Given the description of an element on the screen output the (x, y) to click on. 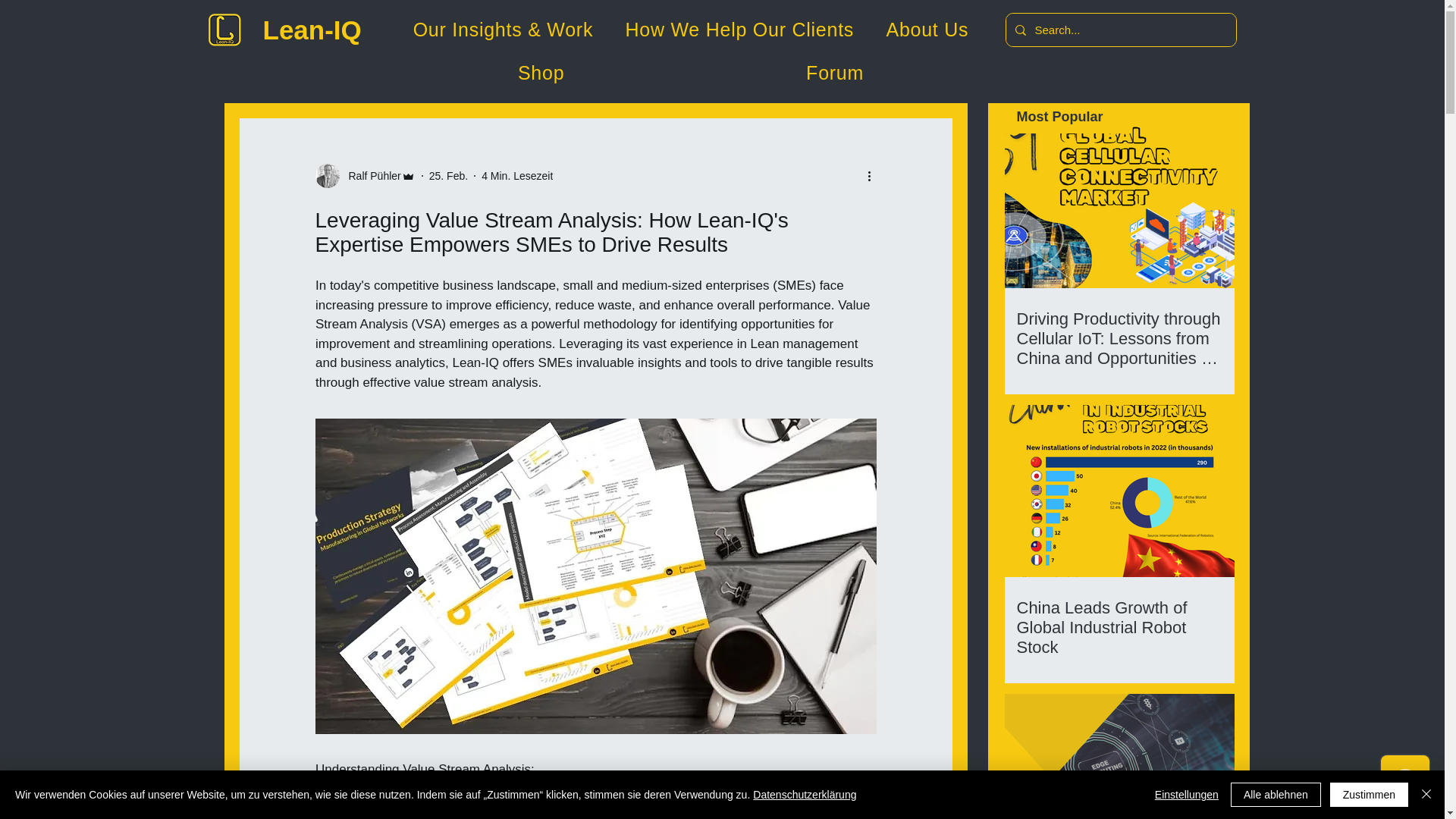
Forum (834, 72)
Shop (541, 72)
How We Help Our Clients (738, 29)
Lean-IQ (311, 30)
25. Feb. (448, 175)
4 Min. Lesezeit (517, 175)
About Us (926, 29)
